Given the description of an element on the screen output the (x, y) to click on. 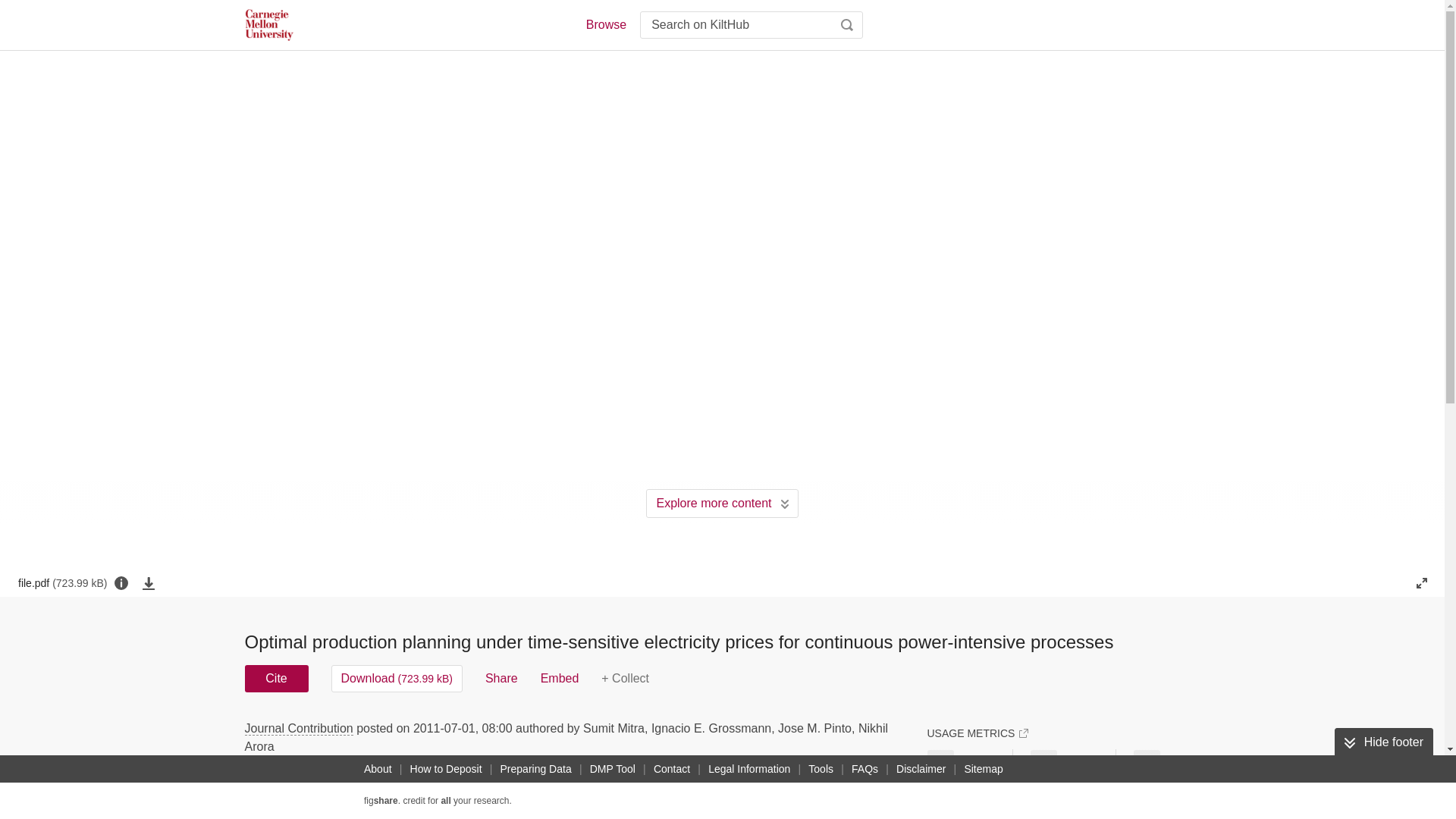
How to Deposit (446, 769)
FAQs (864, 769)
Tools (820, 769)
Legal Information (748, 769)
DMP Tool (612, 769)
Share (501, 678)
USAGE METRICS (976, 732)
Embed (559, 678)
About (377, 769)
Cite (275, 678)
Disclaimer (920, 769)
Browse (605, 24)
Hide footer (1383, 742)
Contact (671, 769)
